Given the description of an element on the screen output the (x, y) to click on. 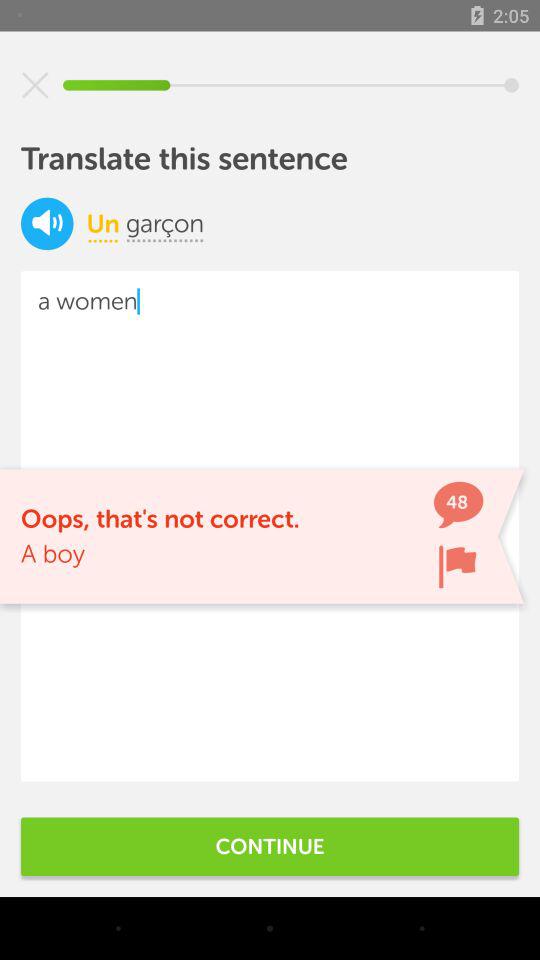
click item next to un (47, 223)
